Given the description of an element on the screen output the (x, y) to click on. 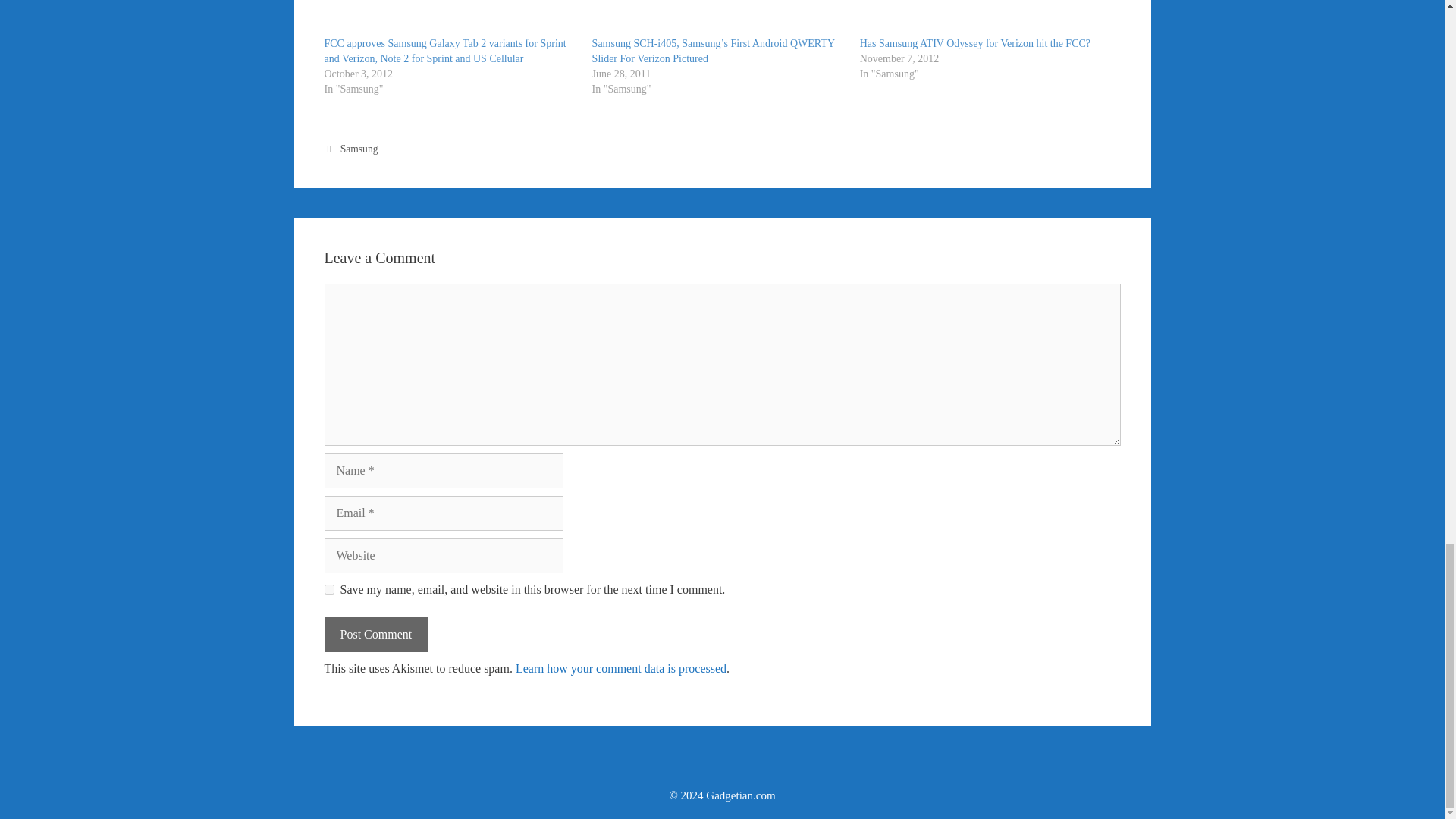
Post Comment (376, 634)
Has Samsung ATIV Odyssey for Verizon hit the FCC? (975, 43)
Has Samsung ATIV Odyssey for Verizon hit the FCC? (986, 18)
Post Comment (376, 634)
Has Samsung ATIV Odyssey for Verizon hit the FCC? (975, 43)
Samsung (359, 148)
Learn how your comment data is processed (620, 667)
yes (329, 589)
